Given the description of an element on the screen output the (x, y) to click on. 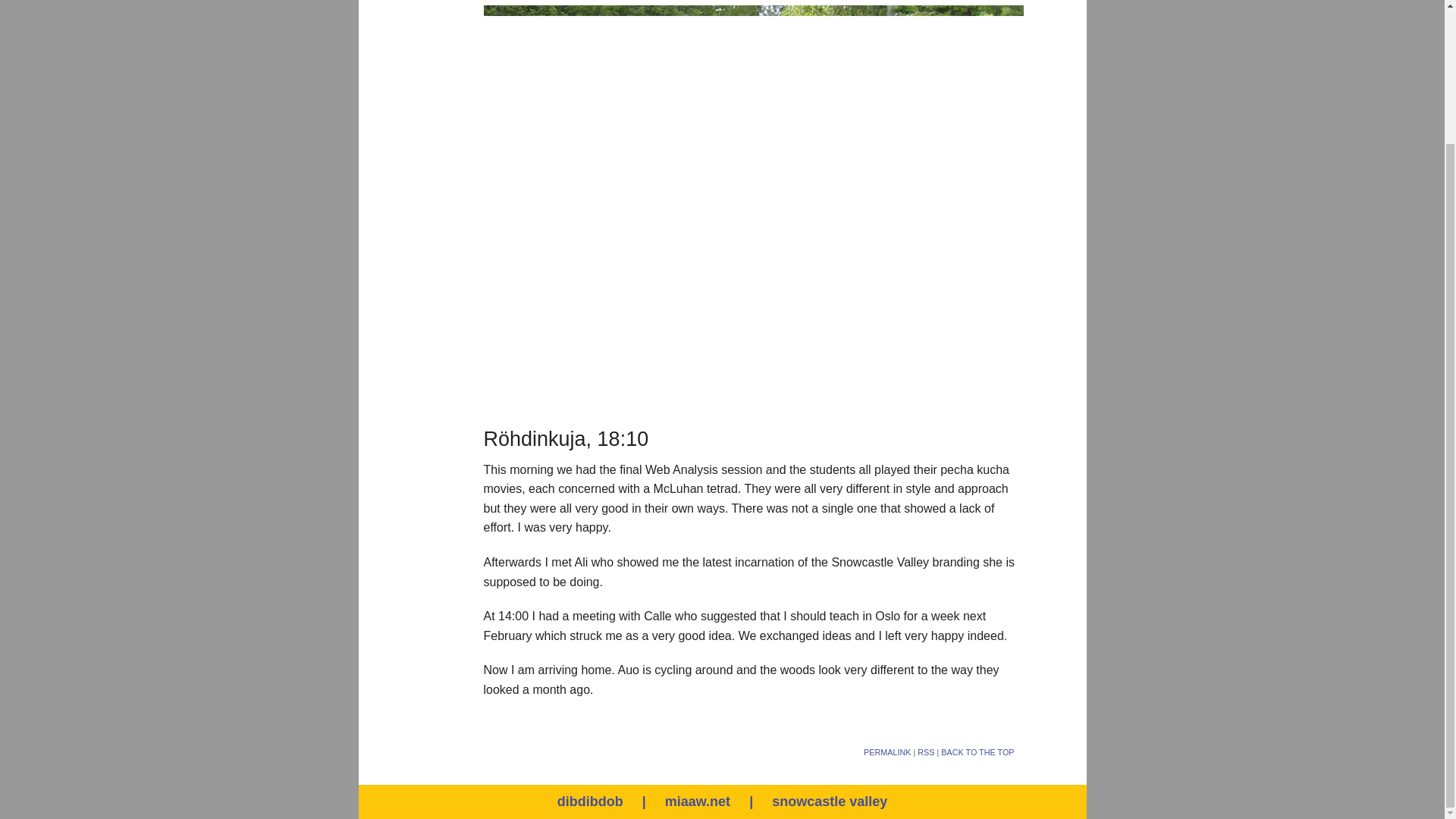
The Time of Day (263, 53)
Projects (263, 18)
Search (1148, 4)
